Given the description of an element on the screen output the (x, y) to click on. 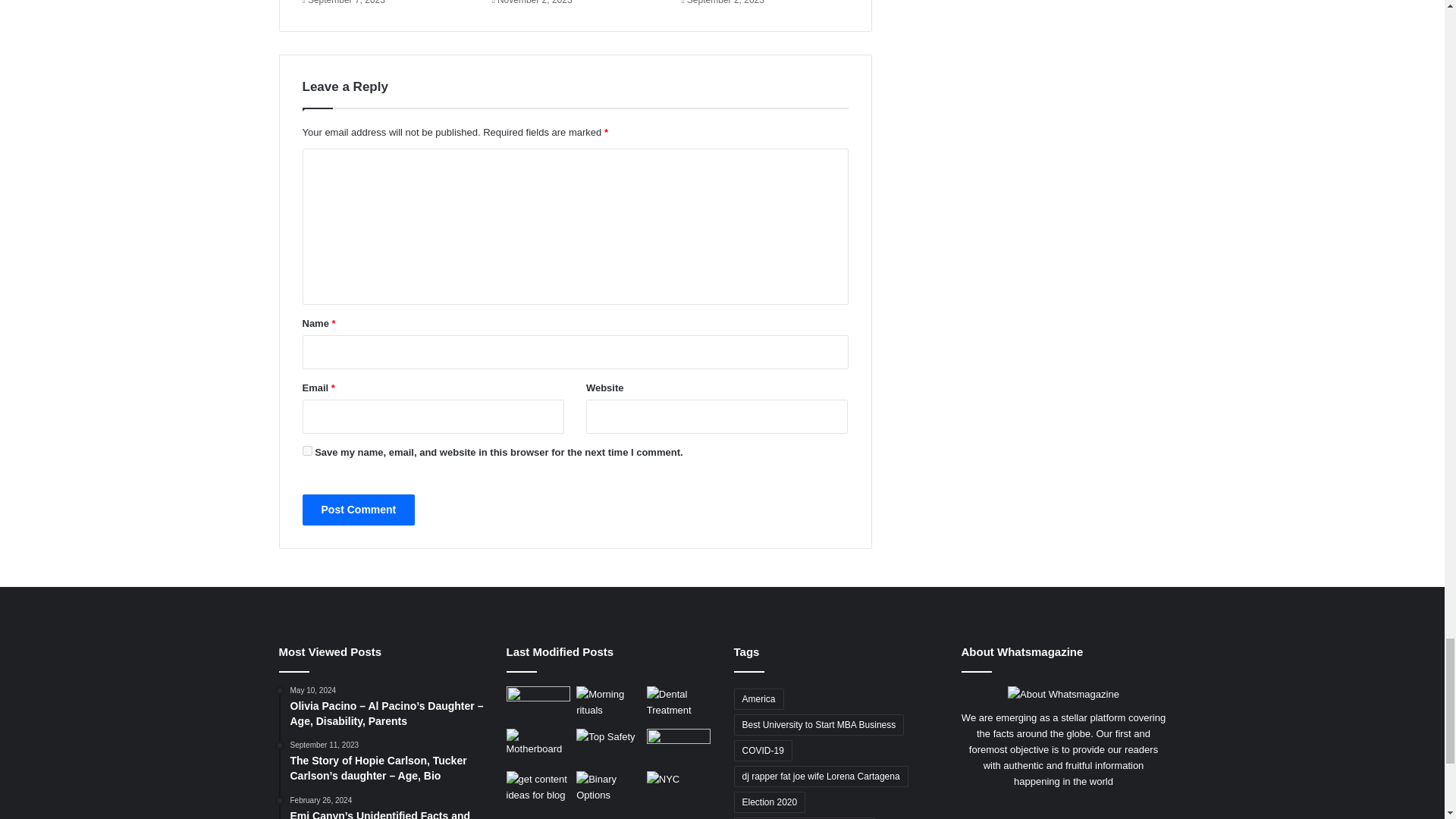
yes (306, 450)
Post Comment (357, 509)
